Given the description of an element on the screen output the (x, y) to click on. 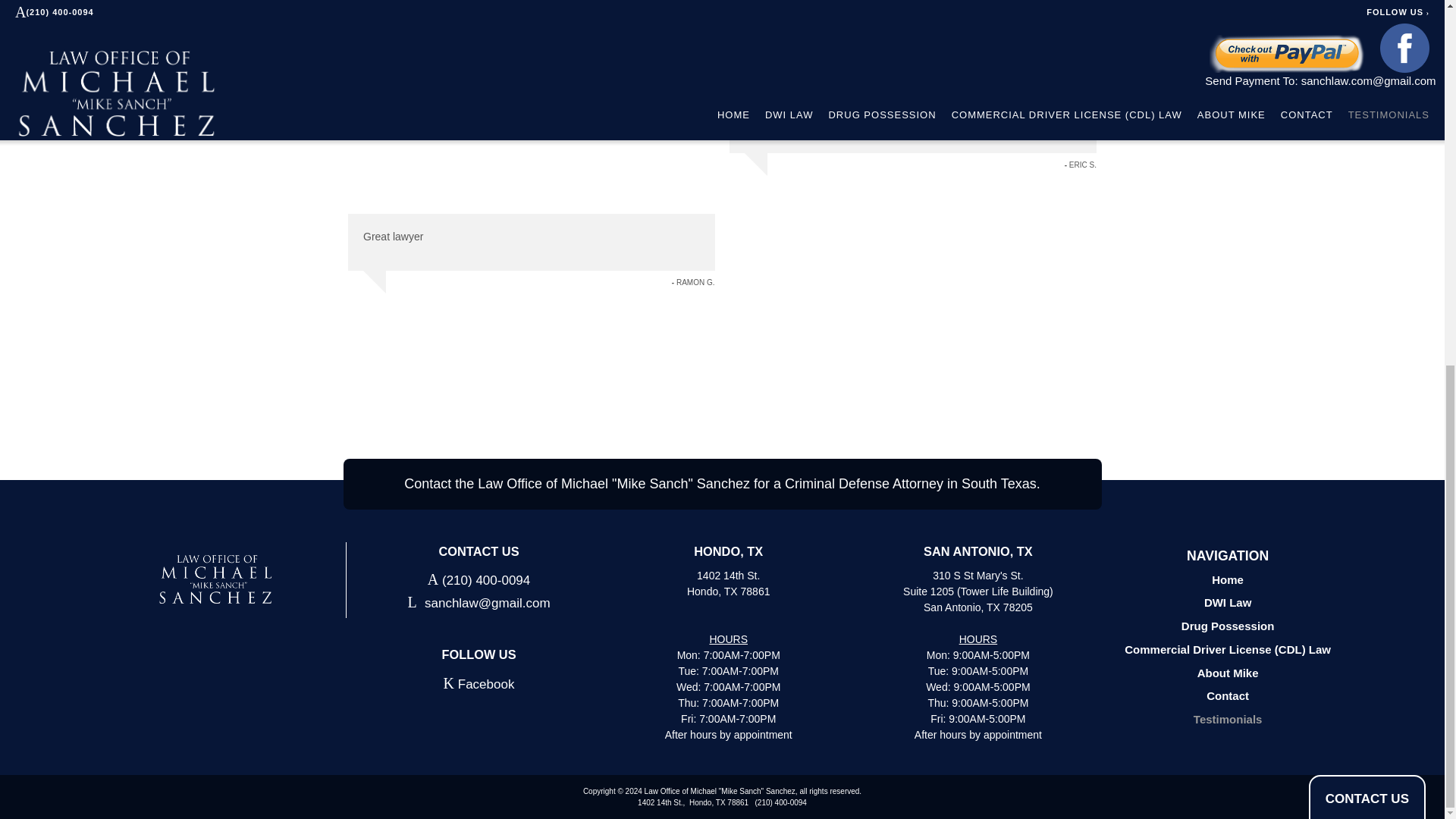
Drug Possession (1227, 627)
Home (1227, 581)
DWI Law (1227, 604)
About Mike (1227, 674)
Testimonials (1227, 721)
Contact (1227, 698)
 Facebook (479, 682)
